Given the description of an element on the screen output the (x, y) to click on. 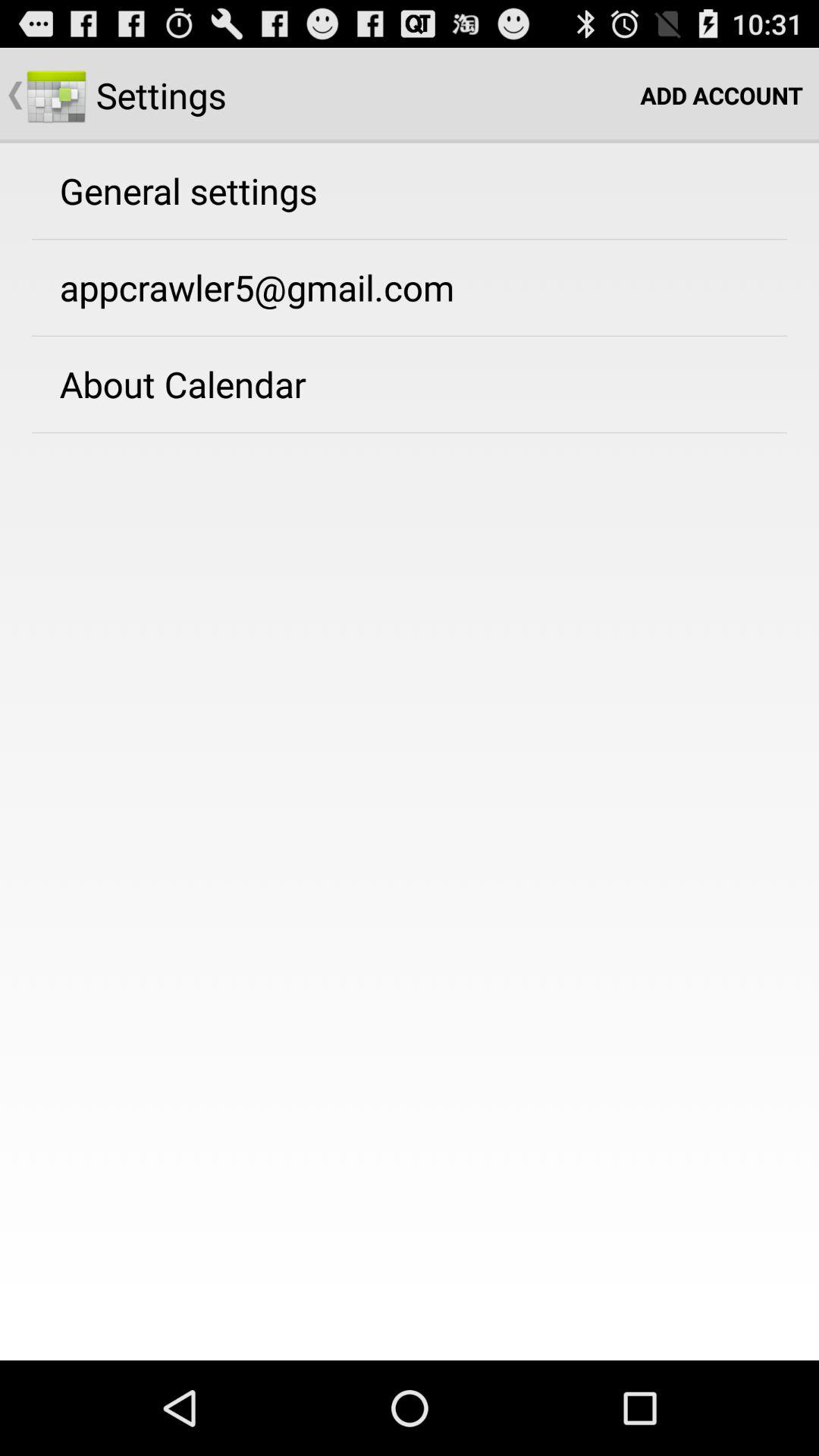
turn on icon to the right of settings item (721, 95)
